Given the description of an element on the screen output the (x, y) to click on. 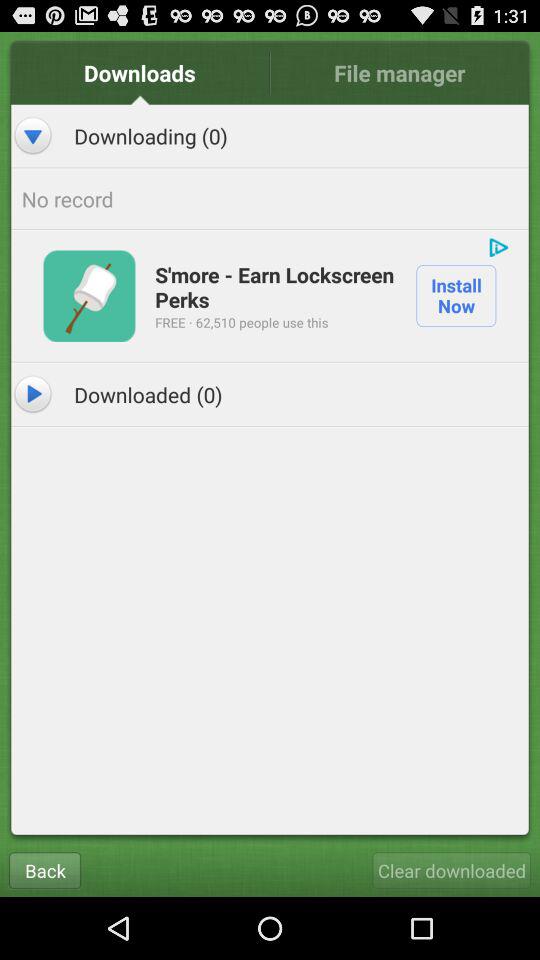
turn on icon next to install now app (275, 286)
